Given the description of an element on the screen output the (x, y) to click on. 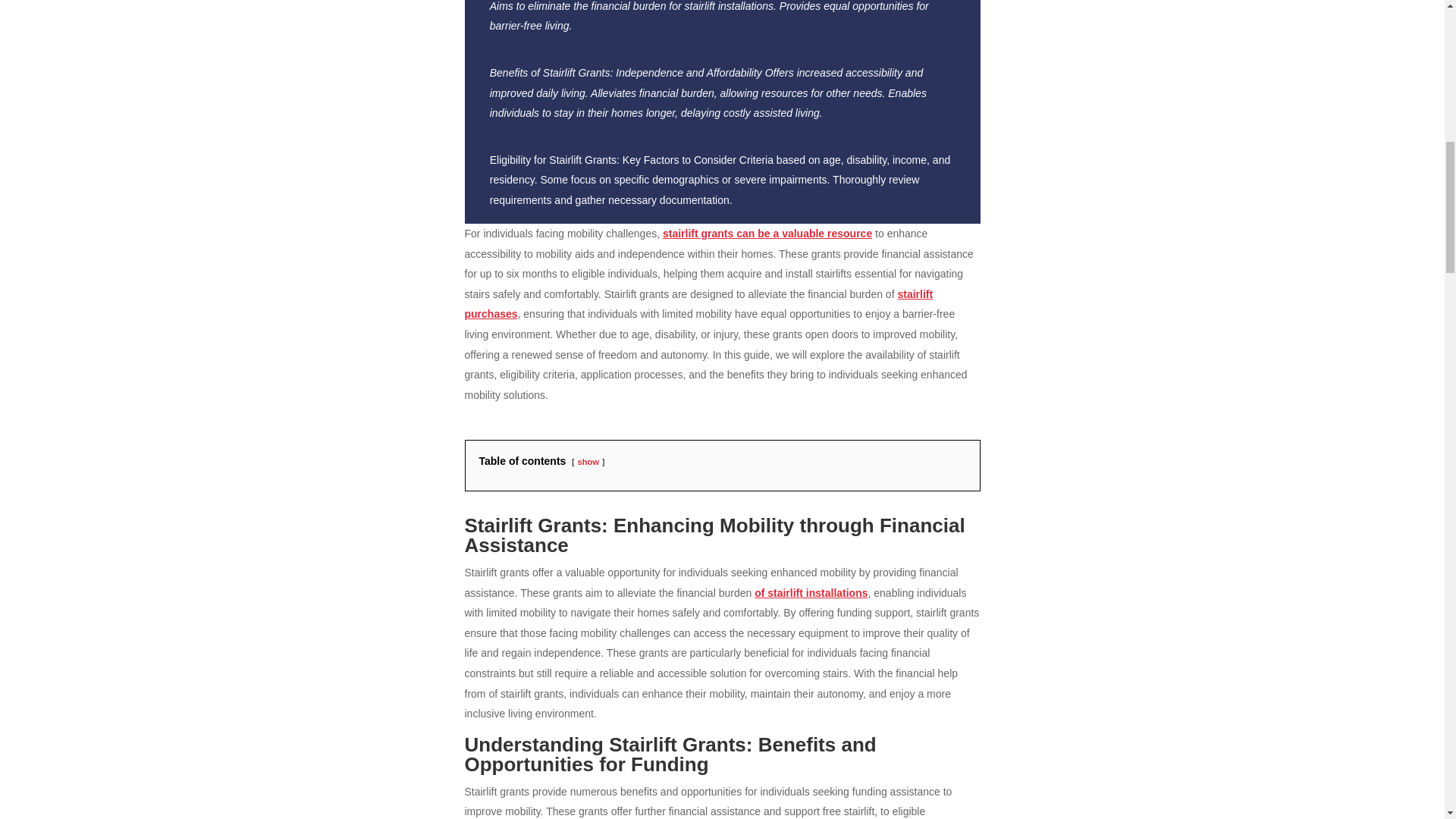
stairlift grants can be a valuable resource (767, 233)
show (587, 461)
stairlift purchases (698, 304)
